Given the description of an element on the screen output the (x, y) to click on. 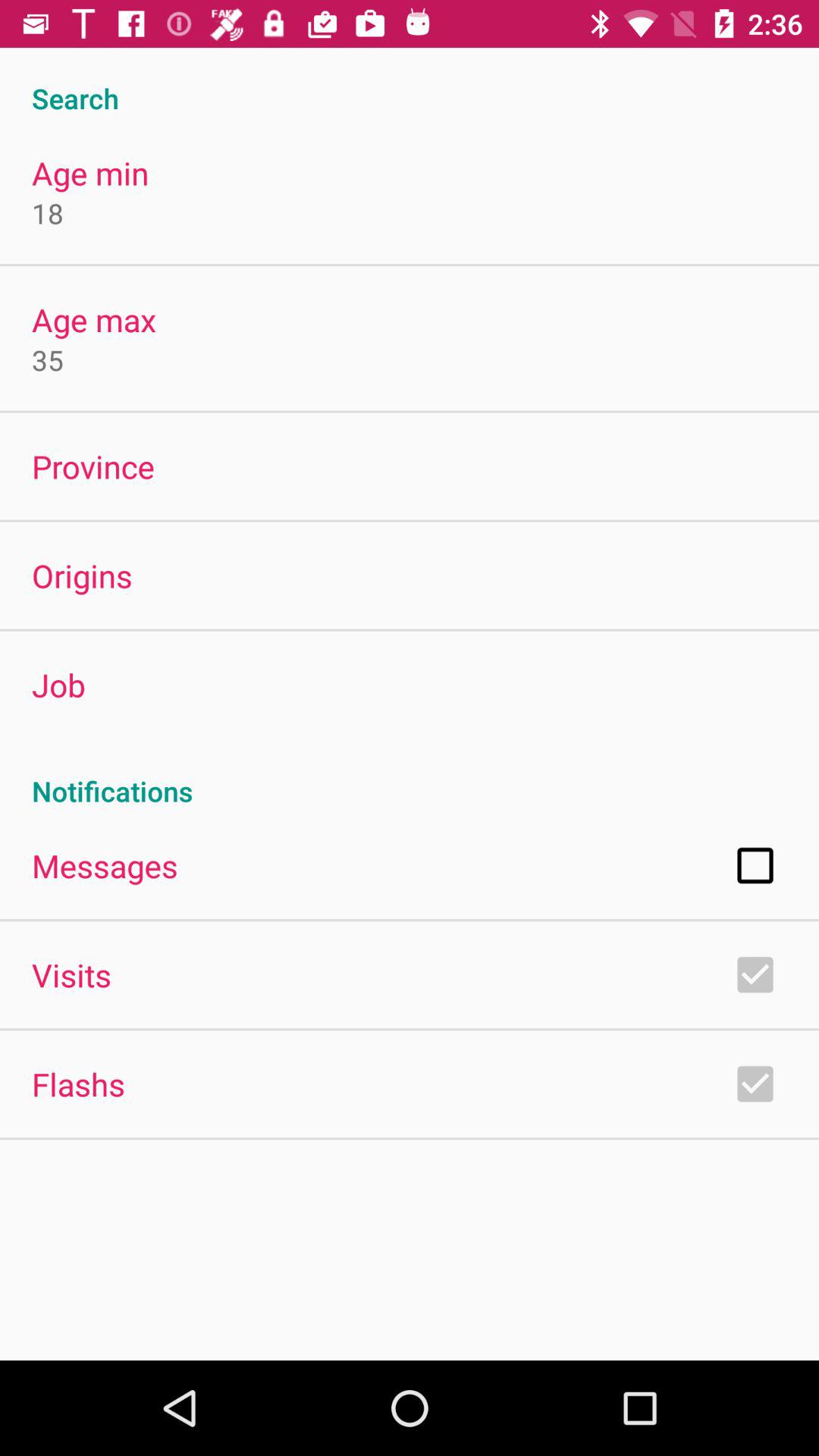
flip until the province item (92, 465)
